Given the description of an element on the screen output the (x, y) to click on. 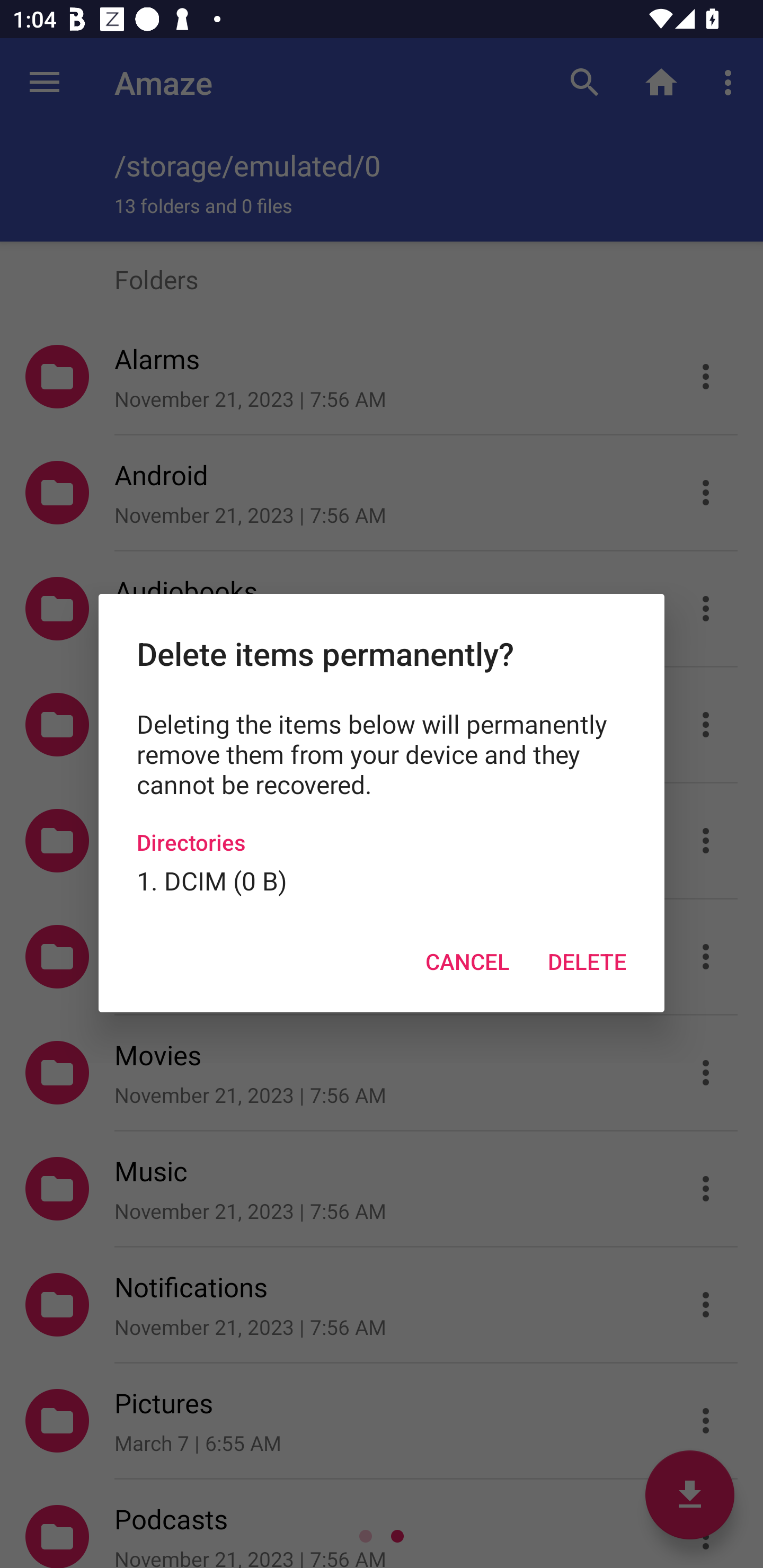
CANCEL (466, 961)
DELETE (586, 961)
